Given the description of an element on the screen output the (x, y) to click on. 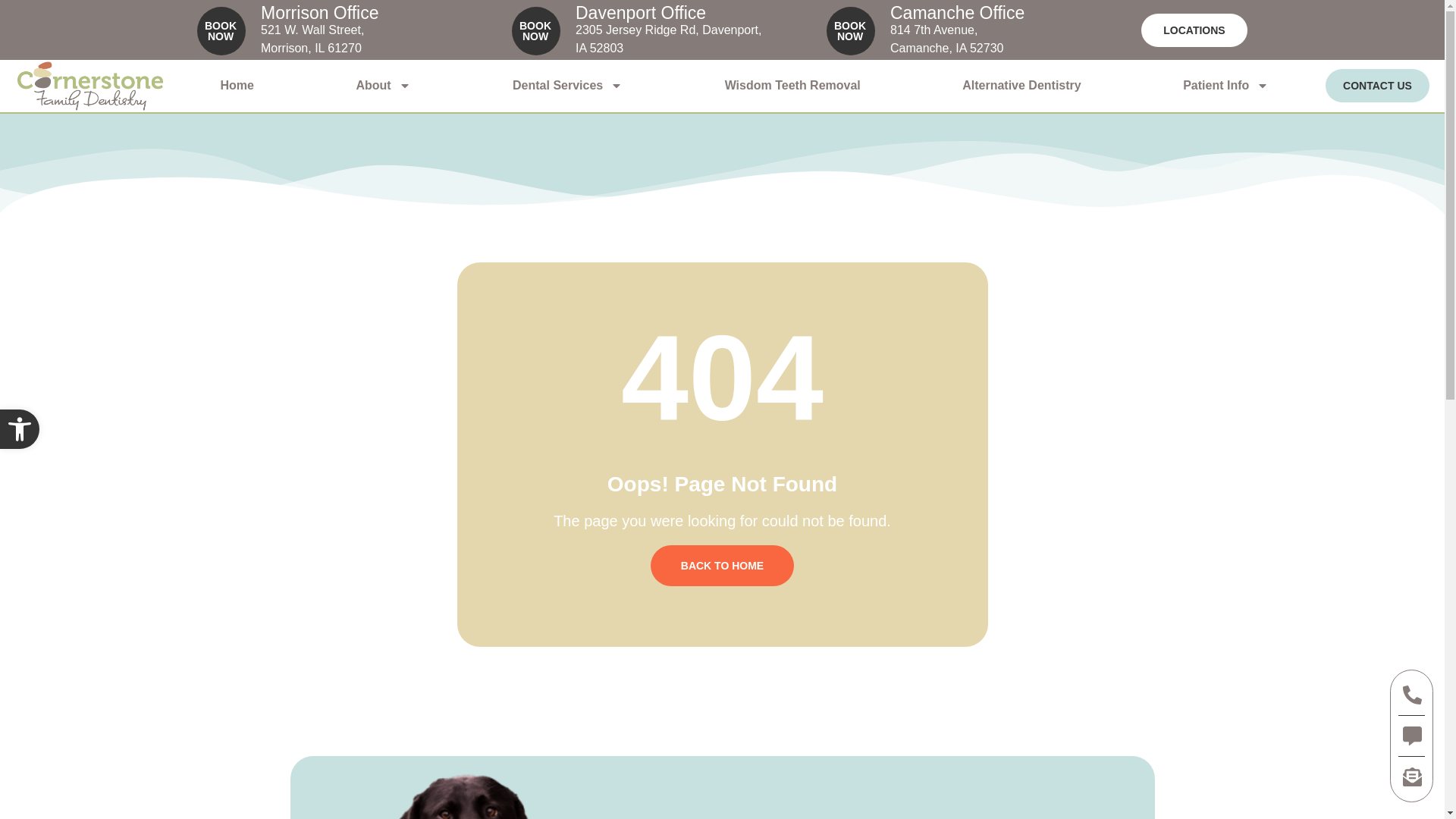
Accessibility Tools (19, 428)
About (19, 428)
Accessibility Tools (536, 22)
Home (383, 85)
Morrison Office (19, 428)
Dental Services (236, 85)
Davenport Office (319, 12)
